Given the description of an element on the screen output the (x, y) to click on. 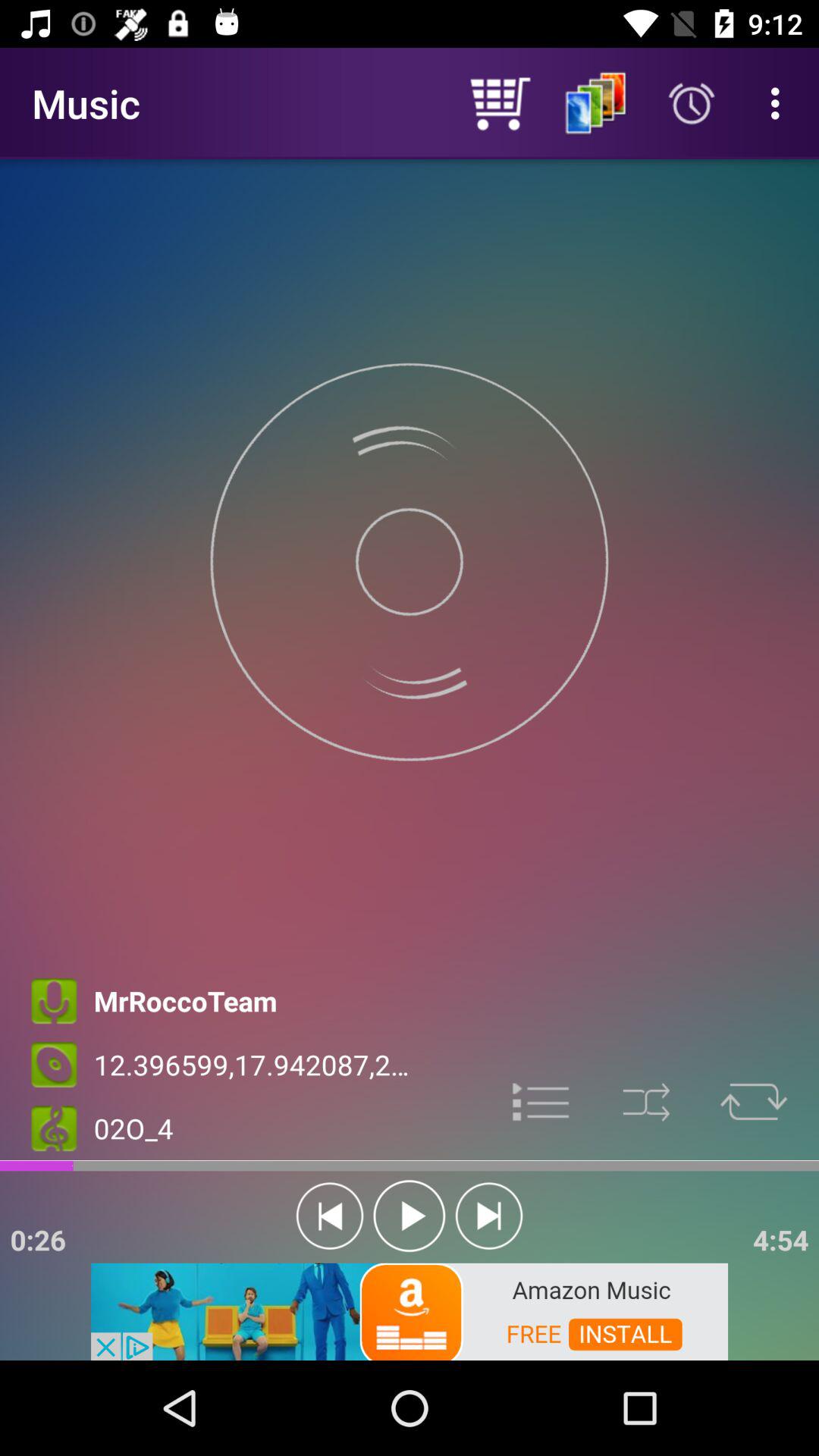
view advertisement (409, 1310)
